Given the description of an element on the screen output the (x, y) to click on. 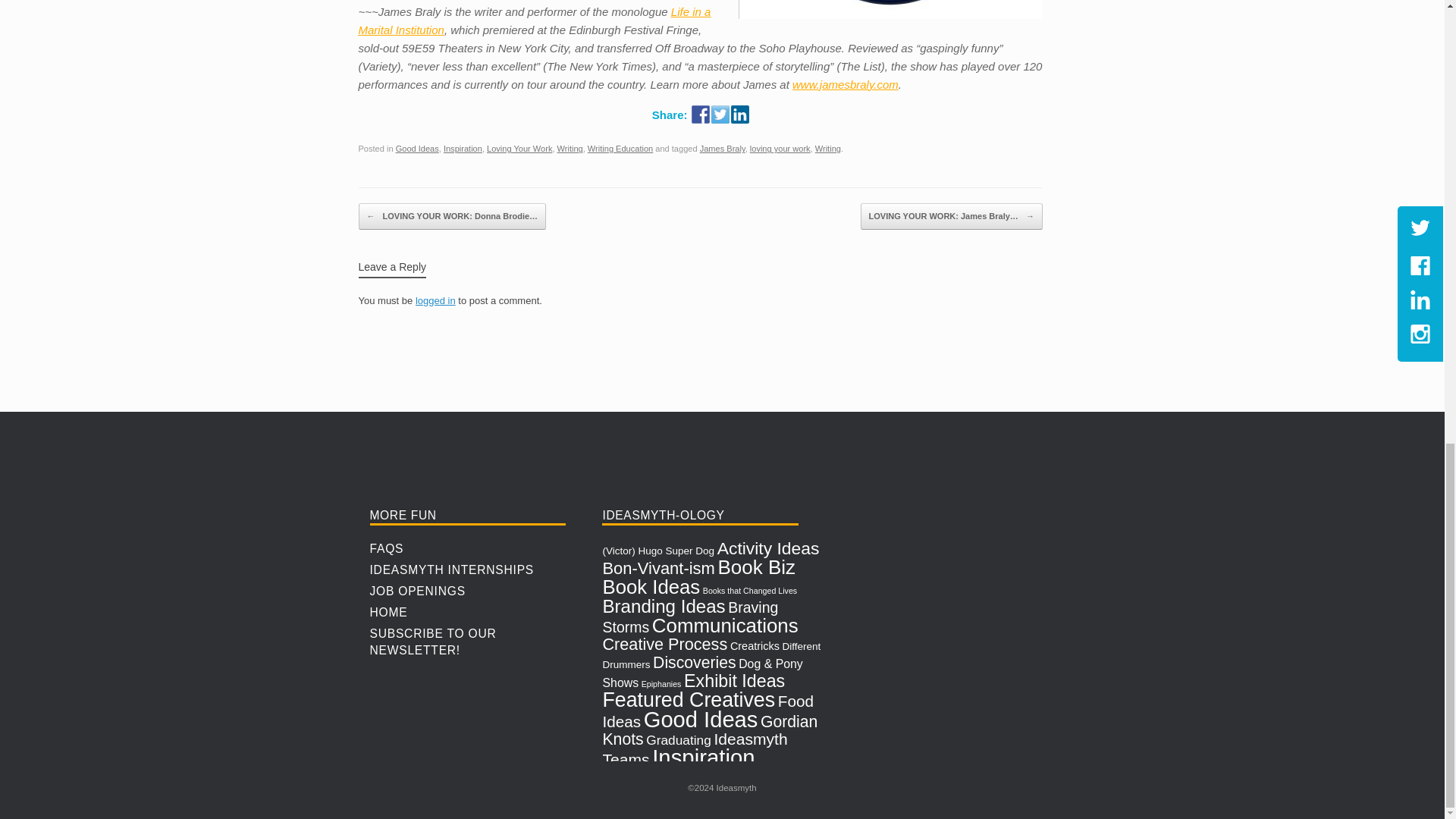
Share on Linkedin (739, 114)
Good Ideas (417, 148)
Life in a Marital Institution (534, 20)
Inspiration (462, 148)
www.jamesbraly.com (845, 83)
Share on Facebook (700, 114)
Loving Your Work (518, 148)
Share on Twitter (720, 114)
